Given the description of an element on the screen output the (x, y) to click on. 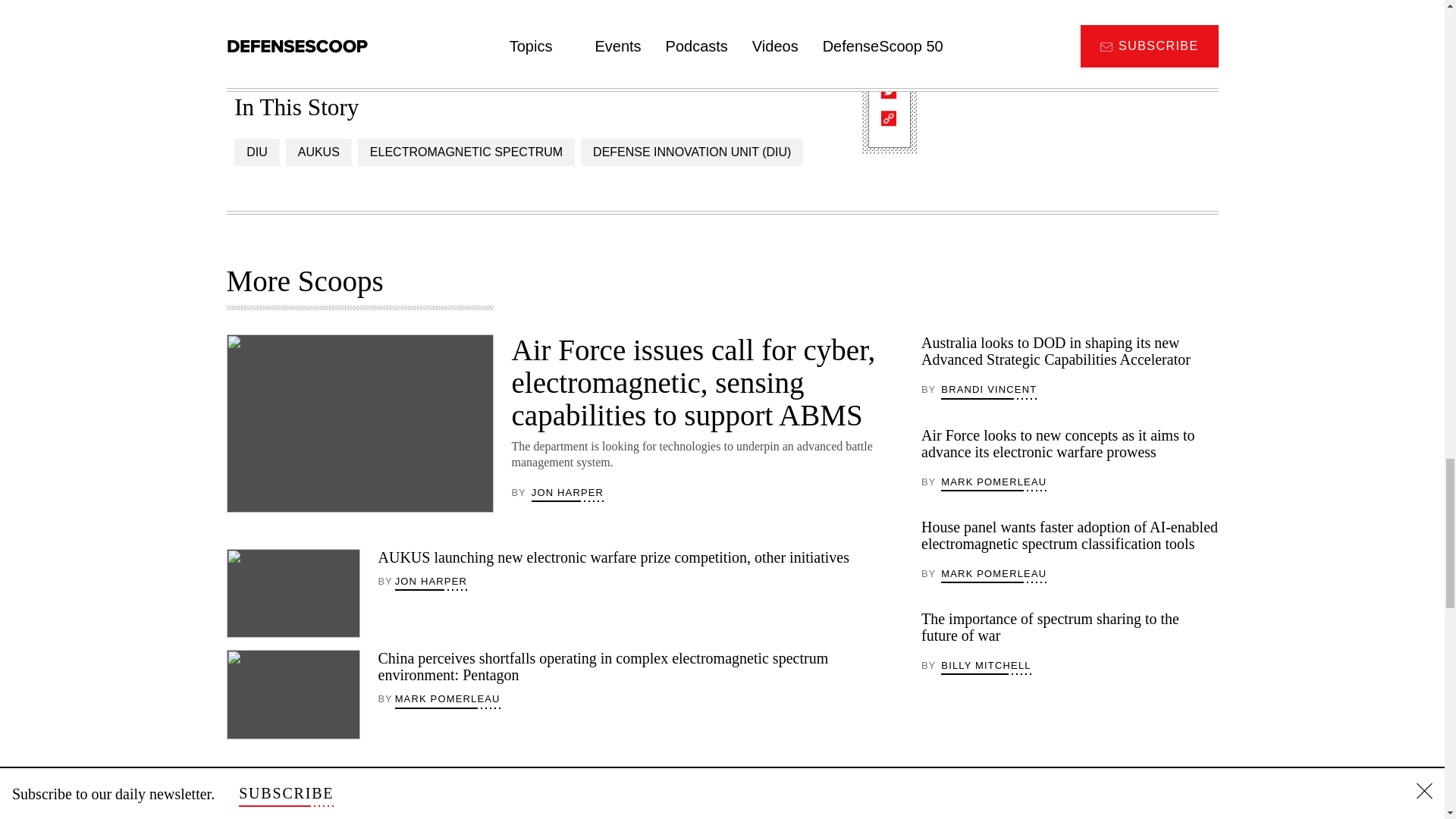
ELECTROMAGNETIC SPECTRUM (466, 151)
DIU (256, 151)
AUKUS (318, 151)
